Given the description of an element on the screen output the (x, y) to click on. 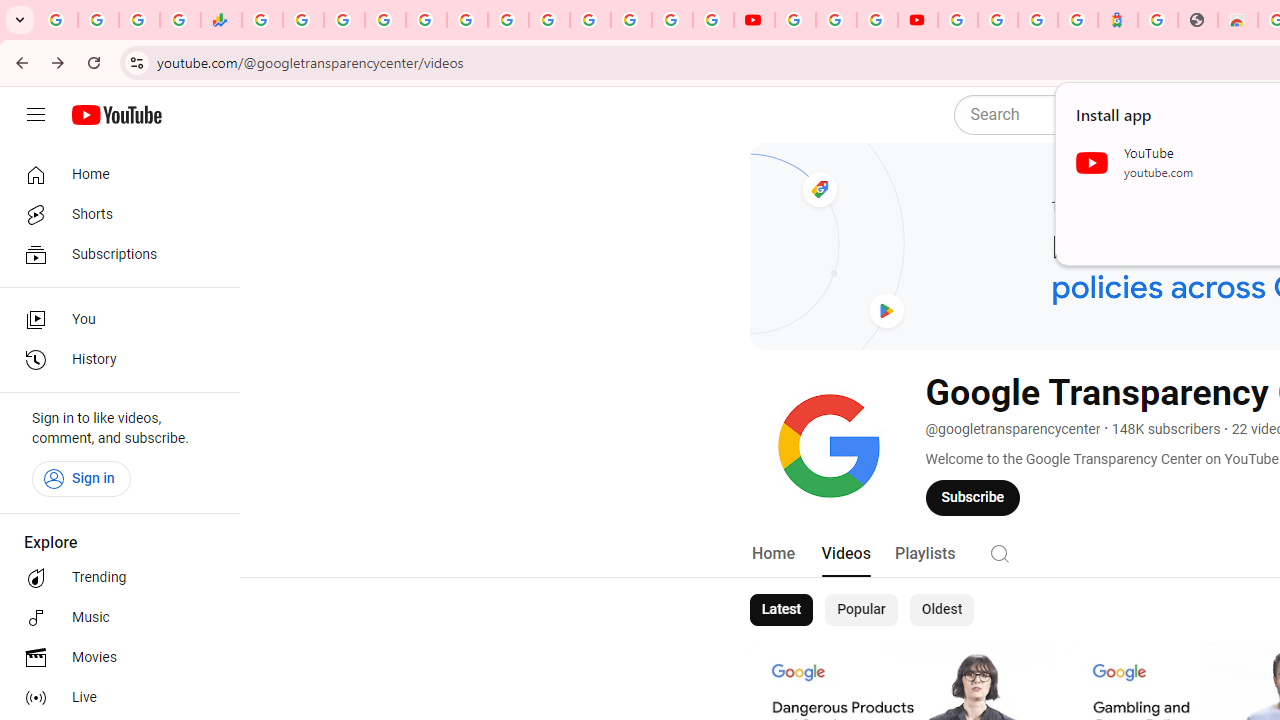
Google Account Help (836, 20)
Sign in - Google Accounts (997, 20)
Videos (845, 553)
Subscribe (973, 497)
Playlists (924, 553)
Content Creator Programs & Opportunities - YouTube Creators (918, 20)
Sign in - Google Accounts (957, 20)
Oldest (941, 609)
Sign in - Google Accounts (384, 20)
Trending (113, 578)
Movies (113, 657)
